Given the description of an element on the screen output the (x, y) to click on. 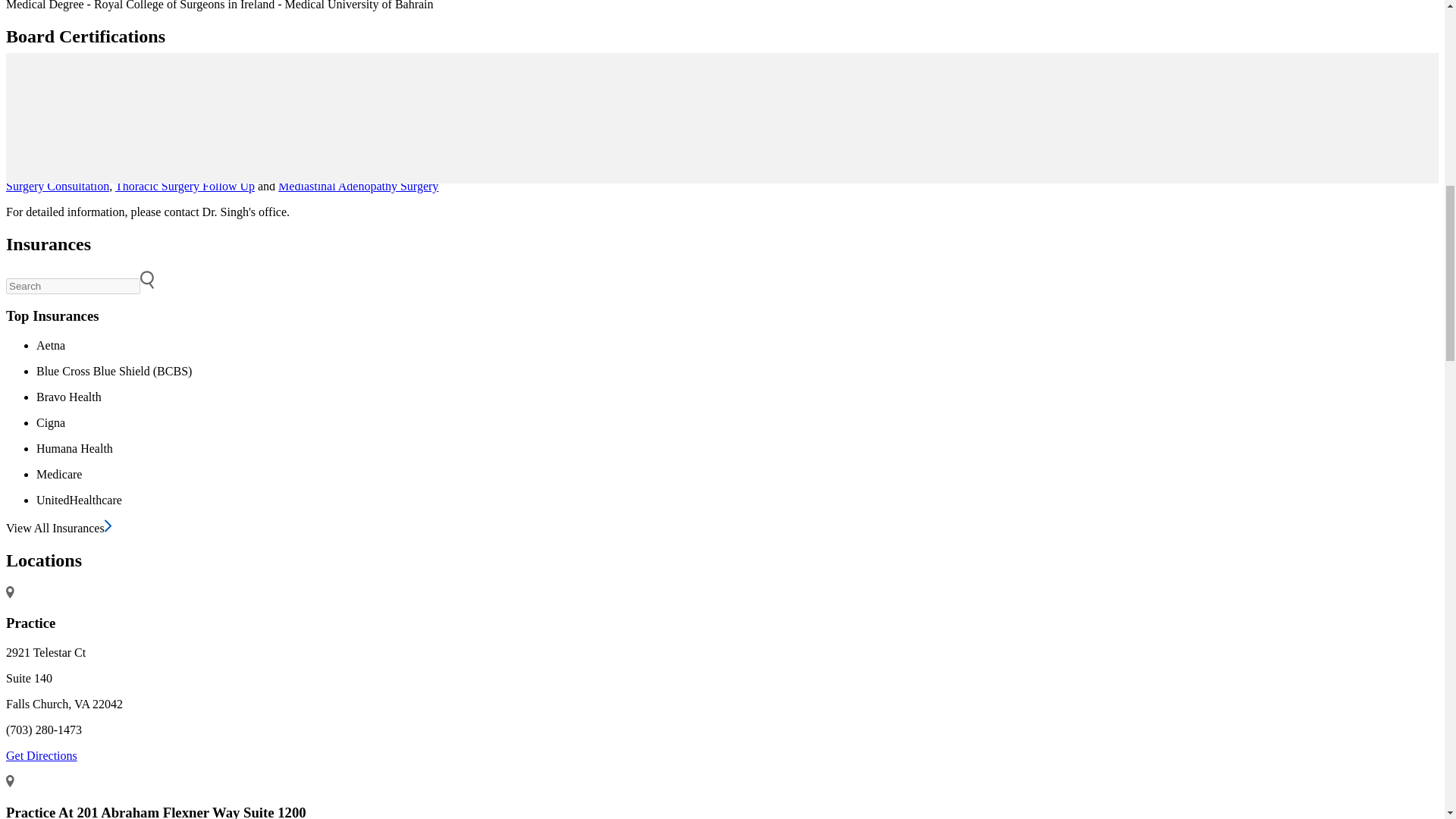
Aortic Stent Grafts (709, 165)
Microvascular Surgery (60, 158)
Endovenous Laser Treatment of Varicose Veins (552, 158)
Atherectomy (220, 172)
Vascular Surgery (245, 158)
Varicose Vein Treatment (732, 158)
Open Aneurysm Repair (126, 172)
Vascular Laparoscopic Surgery Follow Up (1078, 172)
Robotic Thoracic Surgery Consultation (1283, 172)
Arteriovenous Graft Placement (788, 172)
Thoracic Surgery Follow Up (184, 185)
Vascular Ultrasound (919, 172)
Carotid Surgery (160, 158)
Vascular Care Second Opinion (1099, 158)
Vascular Surgery Follow Up (362, 158)
